Given the description of an element on the screen output the (x, y) to click on. 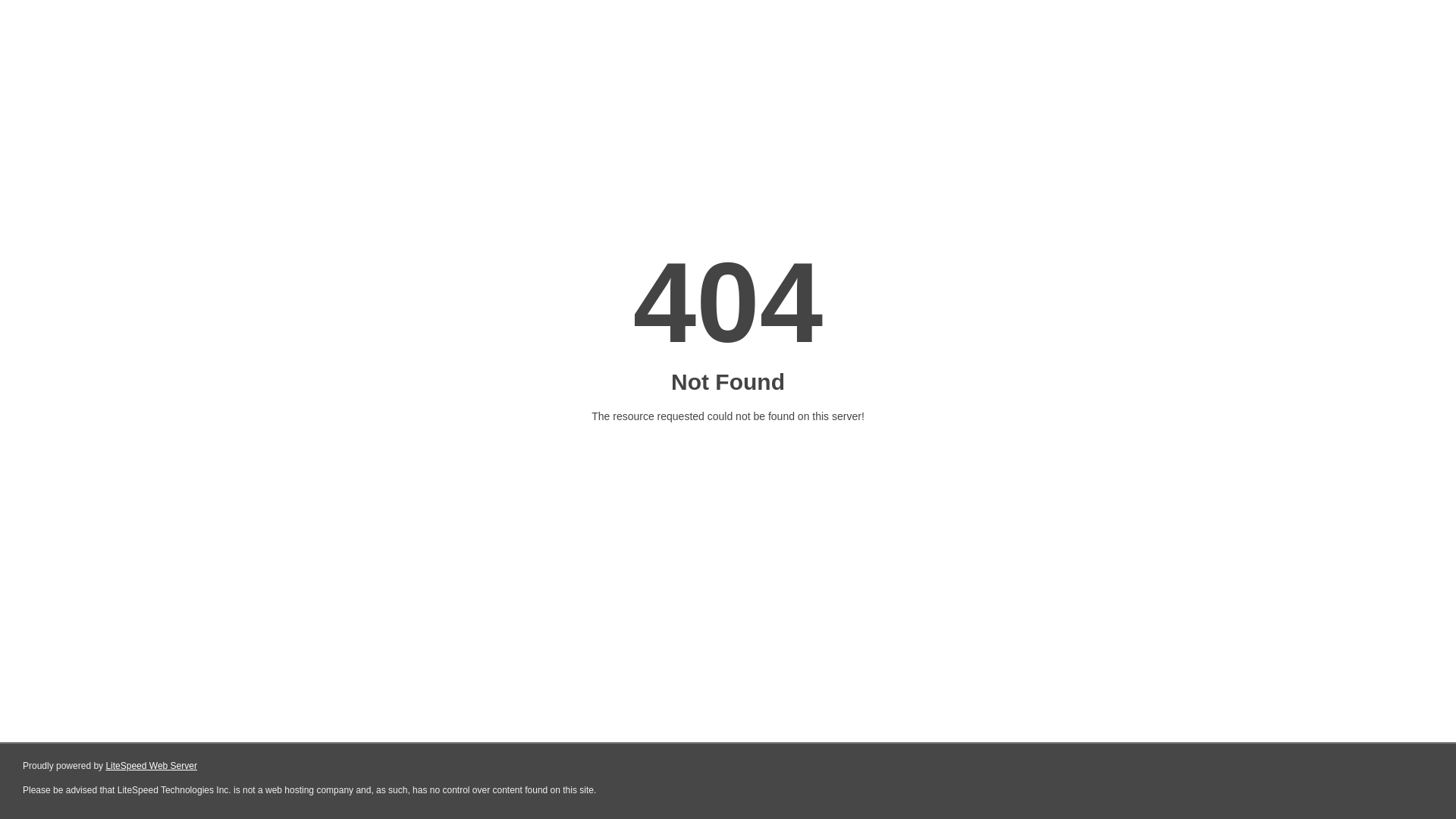
LiteSpeed Web Server Element type: text (151, 765)
